Given the description of an element on the screen output the (x, y) to click on. 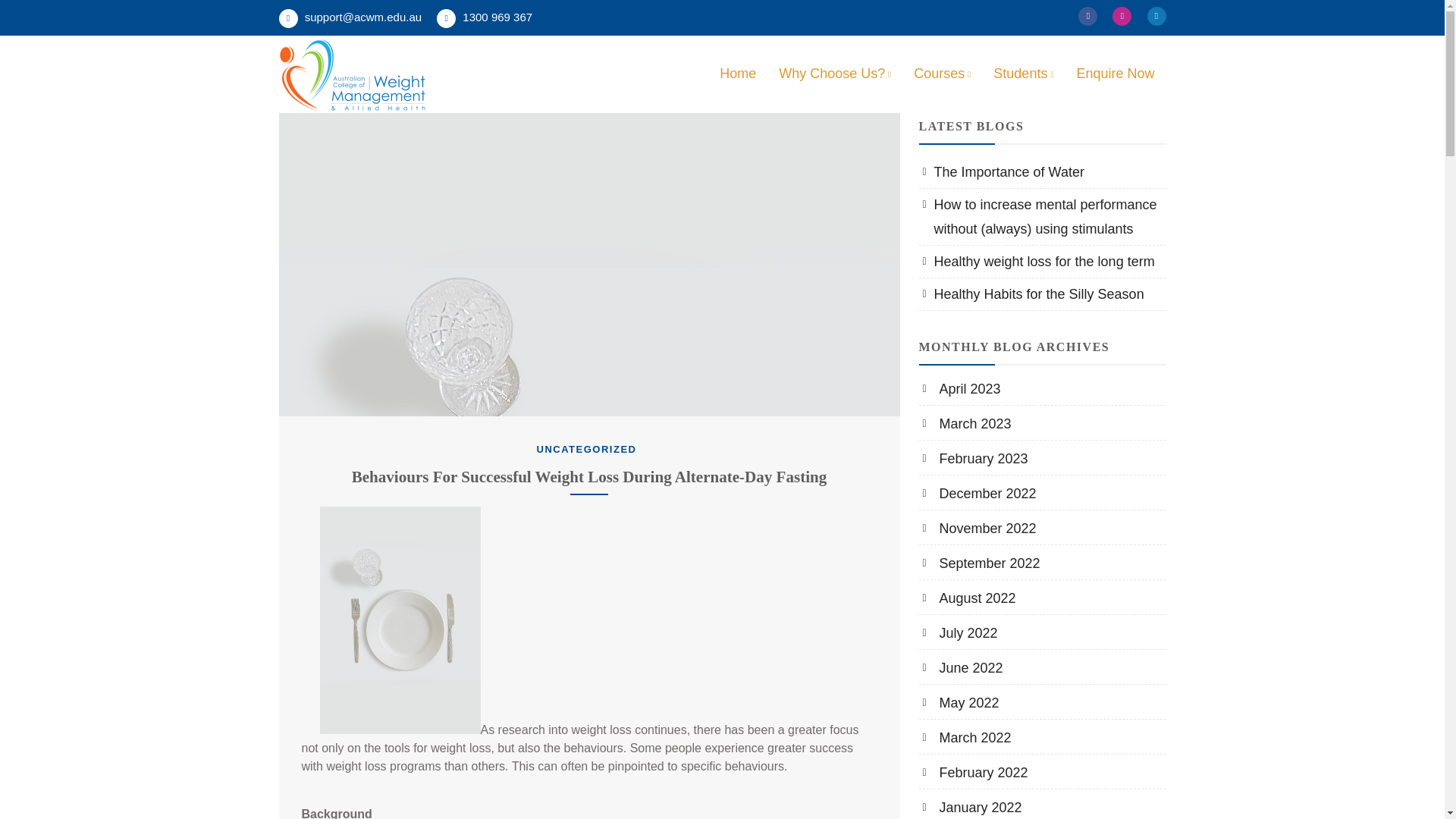
The Importance of Water (1002, 171)
March 2023 (965, 423)
Students (1022, 74)
UNCATEGORIZED (587, 448)
ACWMAH (345, 130)
Enquire Now (1115, 73)
April 2023 (960, 388)
Healthy weight loss for the long term (1037, 261)
1300 969 367 (484, 18)
